Given the description of an element on the screen output the (x, y) to click on. 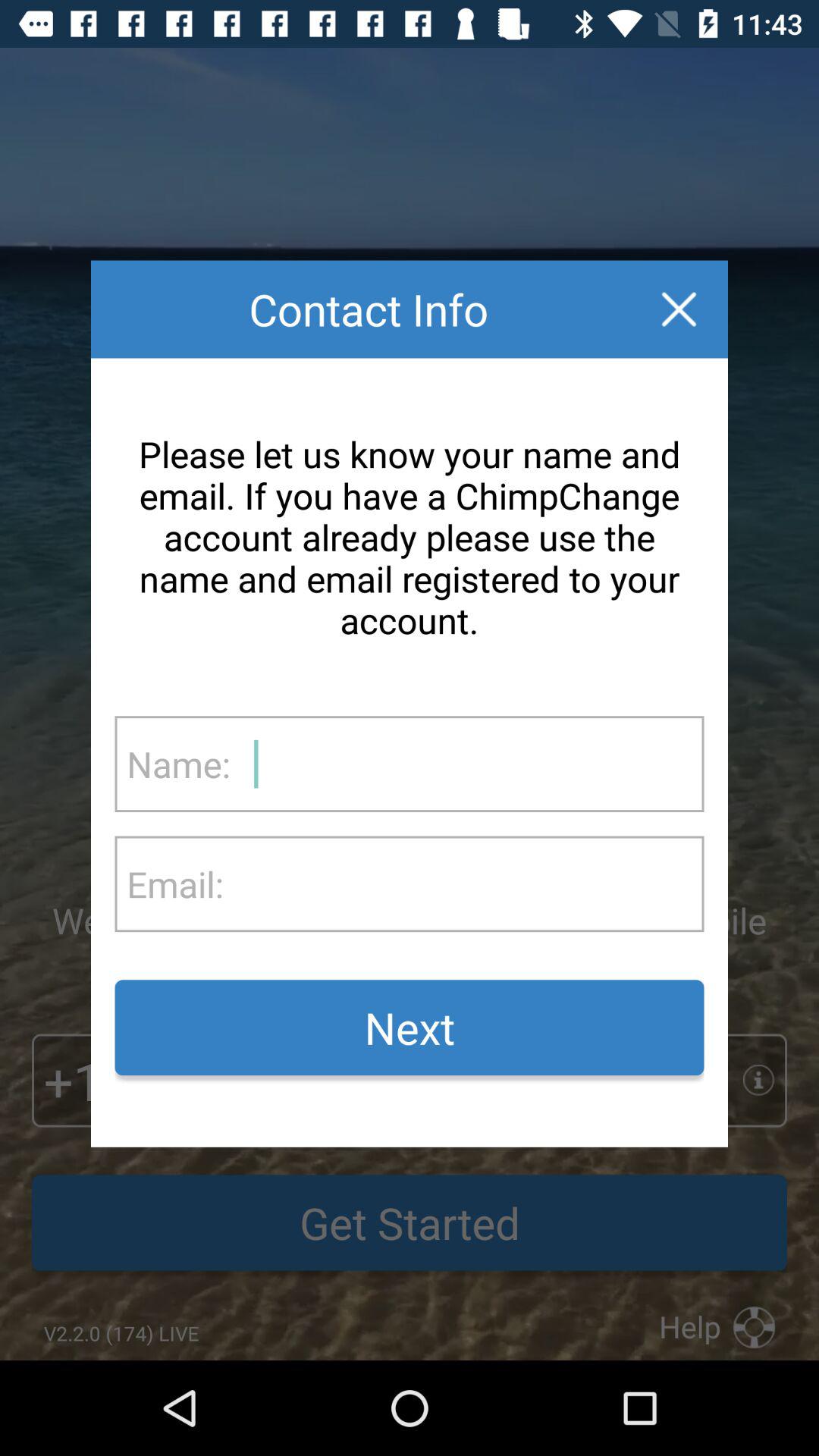
press icon at the bottom (409, 1027)
